Given the description of an element on the screen output the (x, y) to click on. 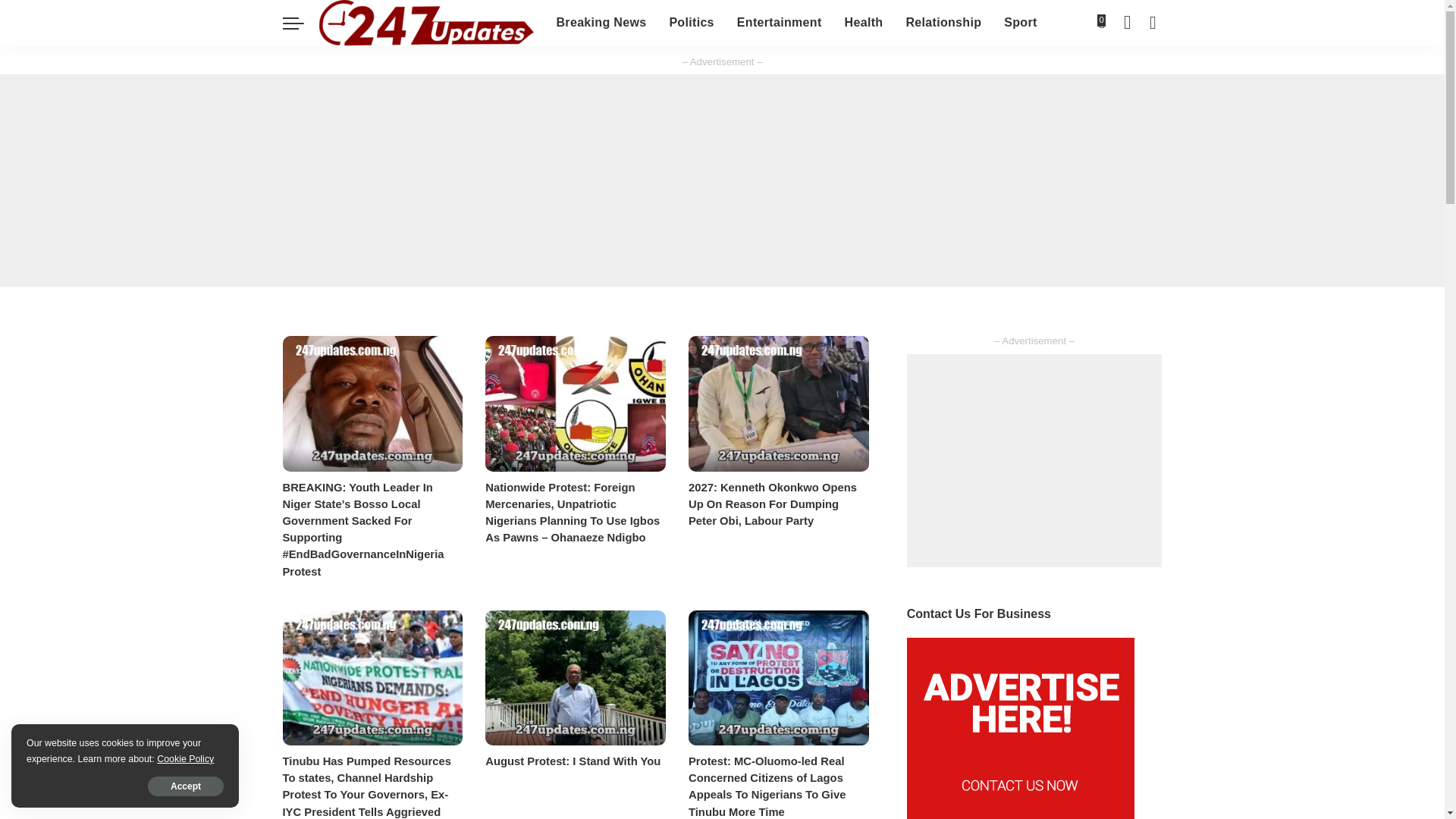
247Updates (425, 22)
Breaking News (601, 22)
Politics (691, 22)
Advertisement (1034, 460)
